Given the description of an element on the screen output the (x, y) to click on. 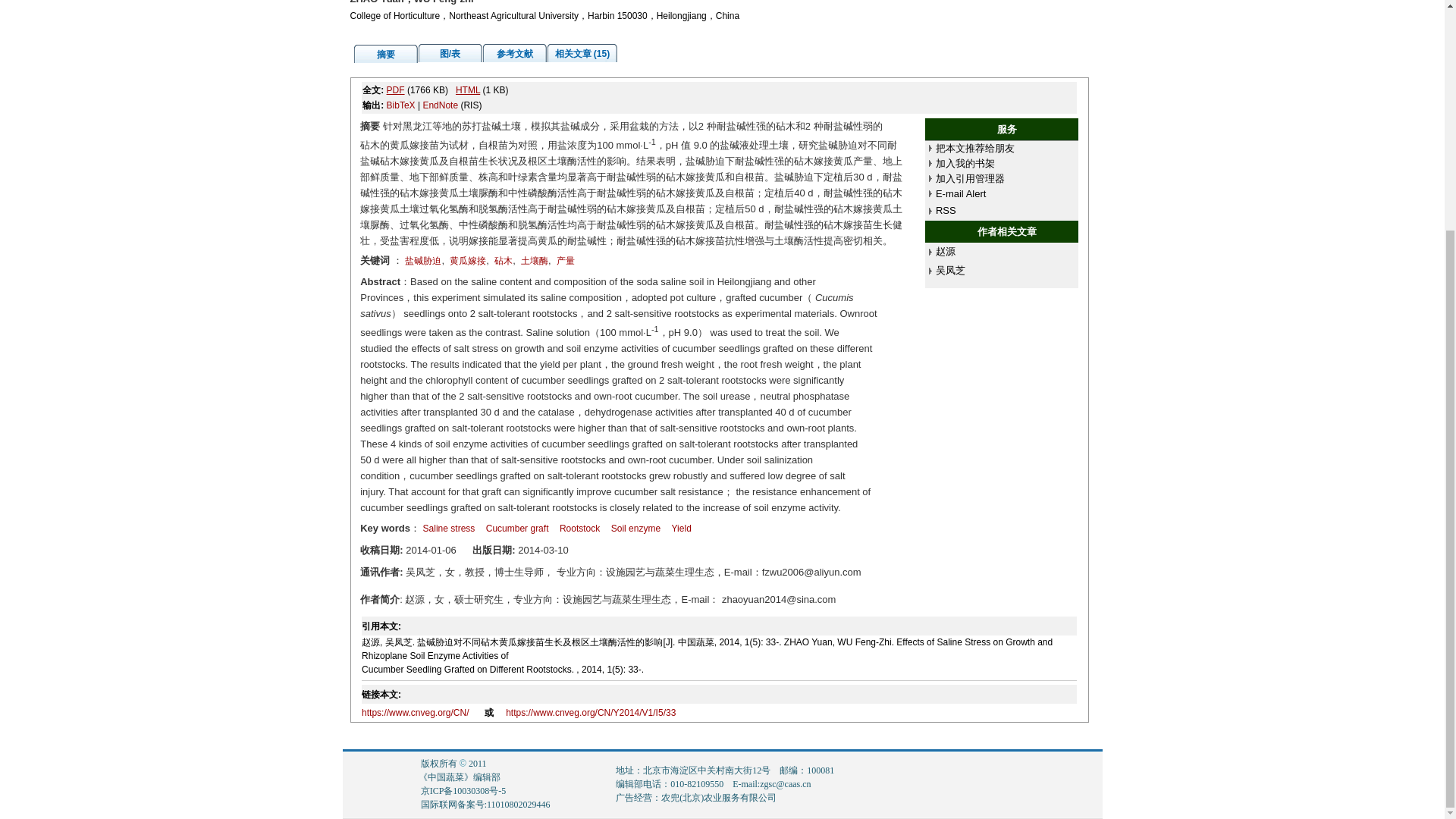
HTML (467, 90)
Saline stress (449, 528)
Soil enzyme (636, 528)
PDF (395, 90)
EndNote (440, 104)
E-mail Alert (960, 193)
Cucumber graft (517, 528)
Rootstock (579, 528)
RSS (946, 210)
Yield (681, 528)
